Given the description of an element on the screen output the (x, y) to click on. 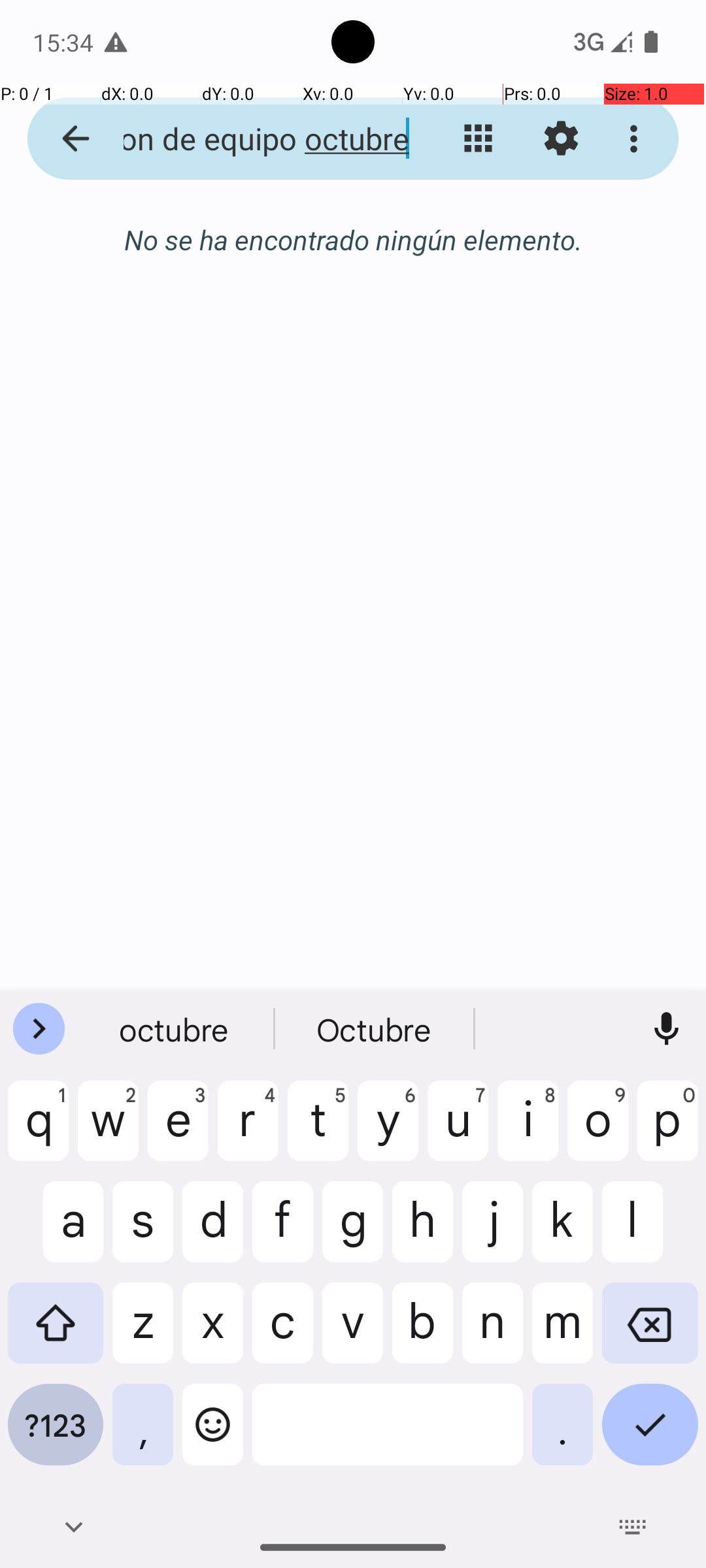
Reunion de equipo octubre Element type: android.widget.EditText (252, 138)
octubre Element type: android.widget.FrameLayout (175, 1028)
